Given the description of an element on the screen output the (x, y) to click on. 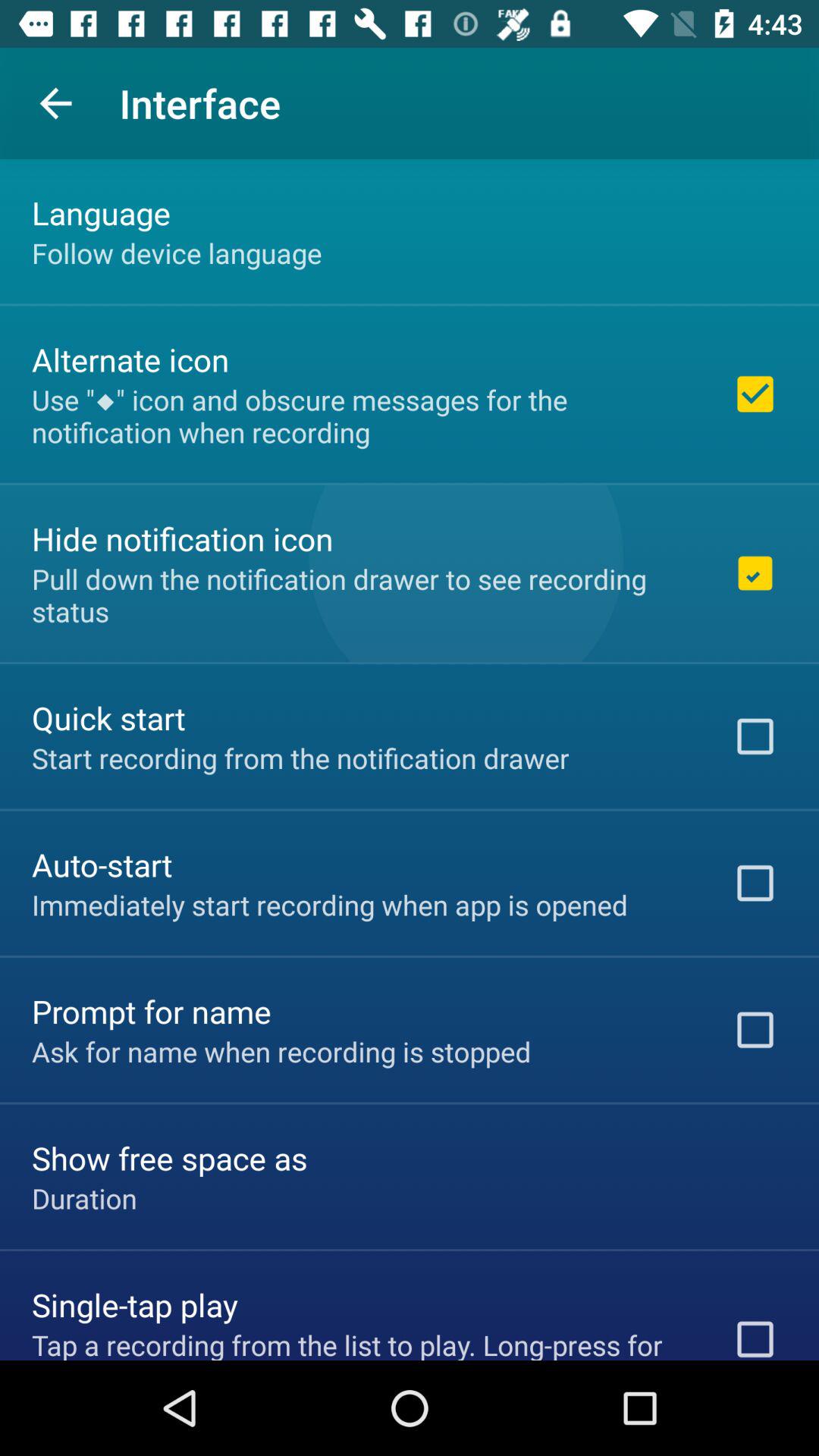
press tap a recording item (361, 1343)
